Given the description of an element on the screen output the (x, y) to click on. 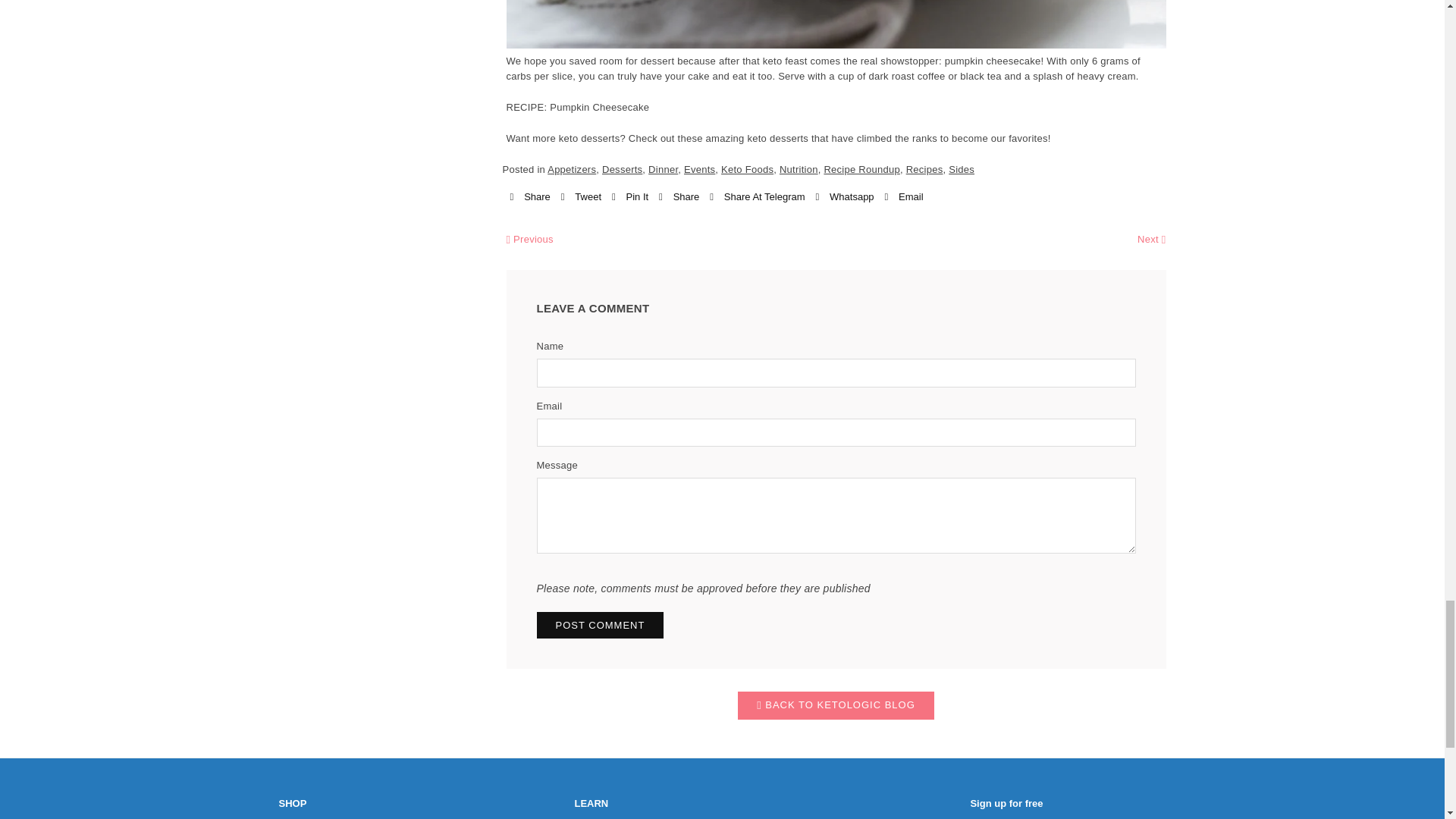
Tweet on Twitter (580, 197)
Post comment (600, 624)
Share by Email (903, 197)
Share on Whatsapp (844, 197)
Share on Linked In (678, 197)
Share on Telegram (757, 197)
Share on Facebook (529, 197)
Pin on Pinterest (629, 197)
